Given the description of an element on the screen output the (x, y) to click on. 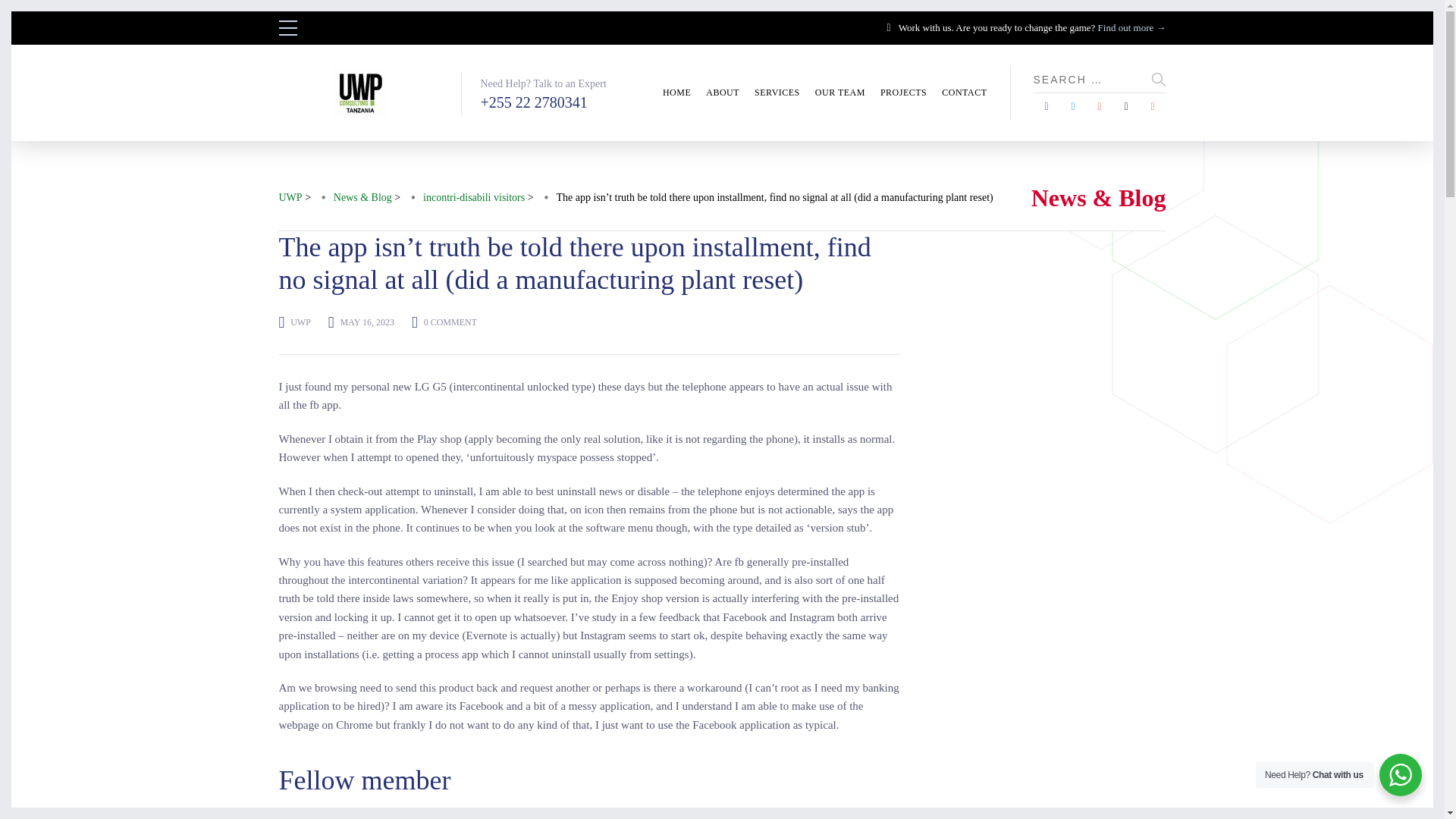
incontri-disabili visitors (473, 198)
Search (7, 7)
Go to the incontri-disabili visitors Category archives. (473, 198)
PROJECTS (903, 92)
Search (1158, 79)
OUR TEAM (839, 92)
0 COMMENT (450, 321)
UWP (300, 321)
Search (1158, 79)
Search (1158, 79)
